Given the description of an element on the screen output the (x, y) to click on. 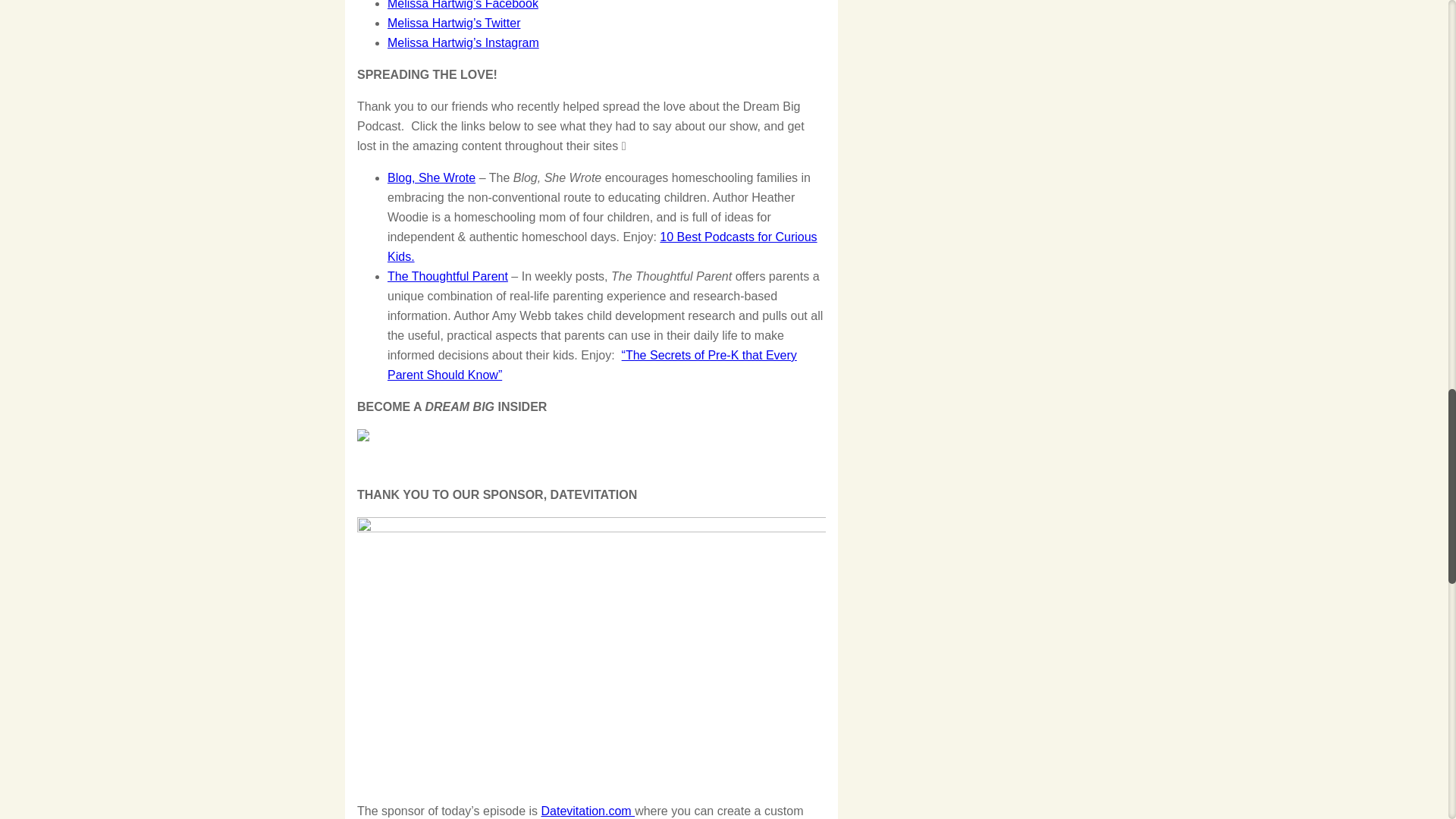
Blog, She Wrote (431, 177)
Datevitation.com (587, 810)
The Thoughtful Parent (447, 276)
10 Best Podcasts for Curious Kids. (601, 246)
